Given the description of an element on the screen output the (x, y) to click on. 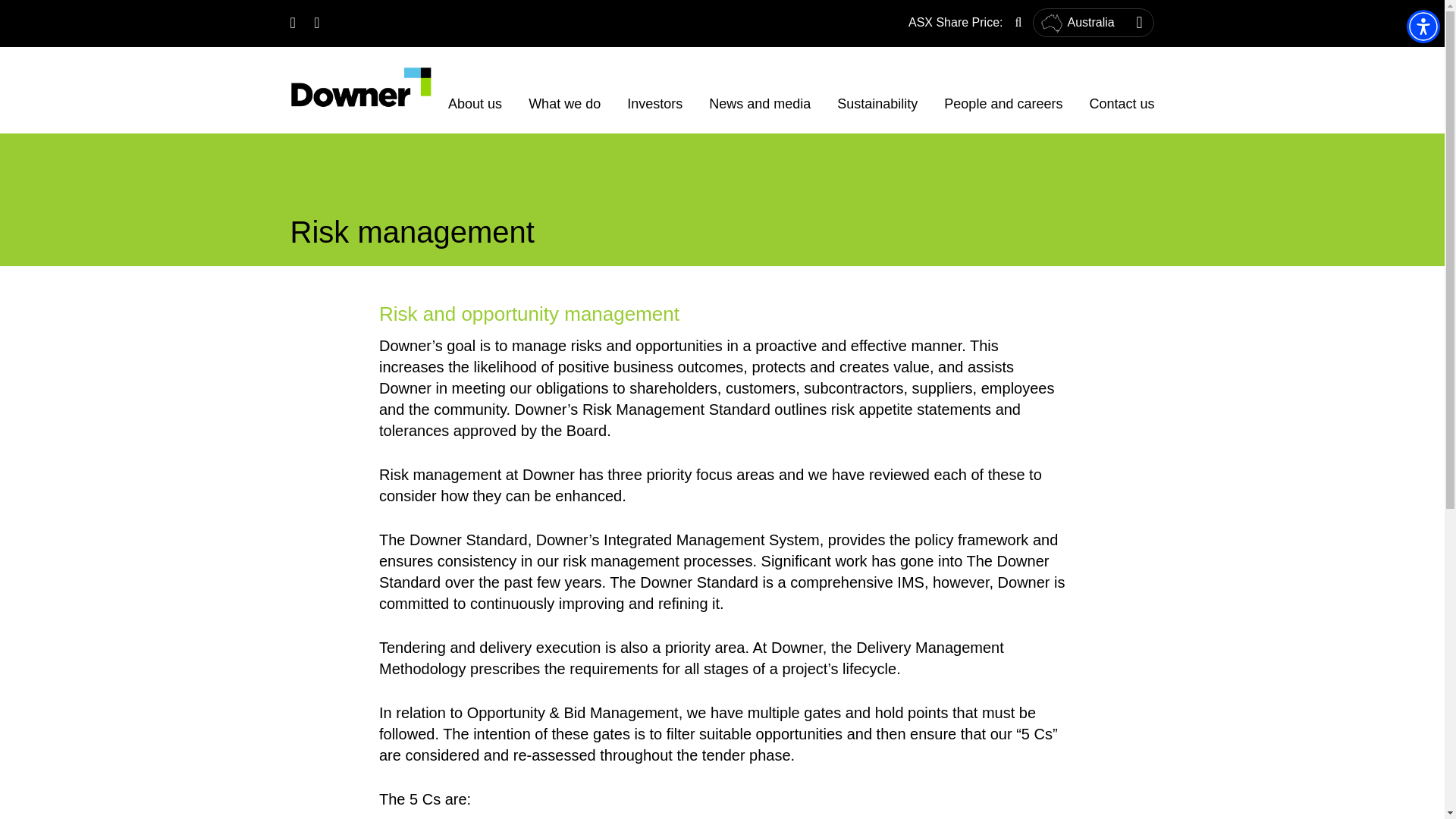
About us (475, 99)
Accessibility Menu (1422, 26)
What we do (563, 99)
Australia (1093, 22)
ASX Share Price: (955, 21)
